Given the description of an element on the screen output the (x, y) to click on. 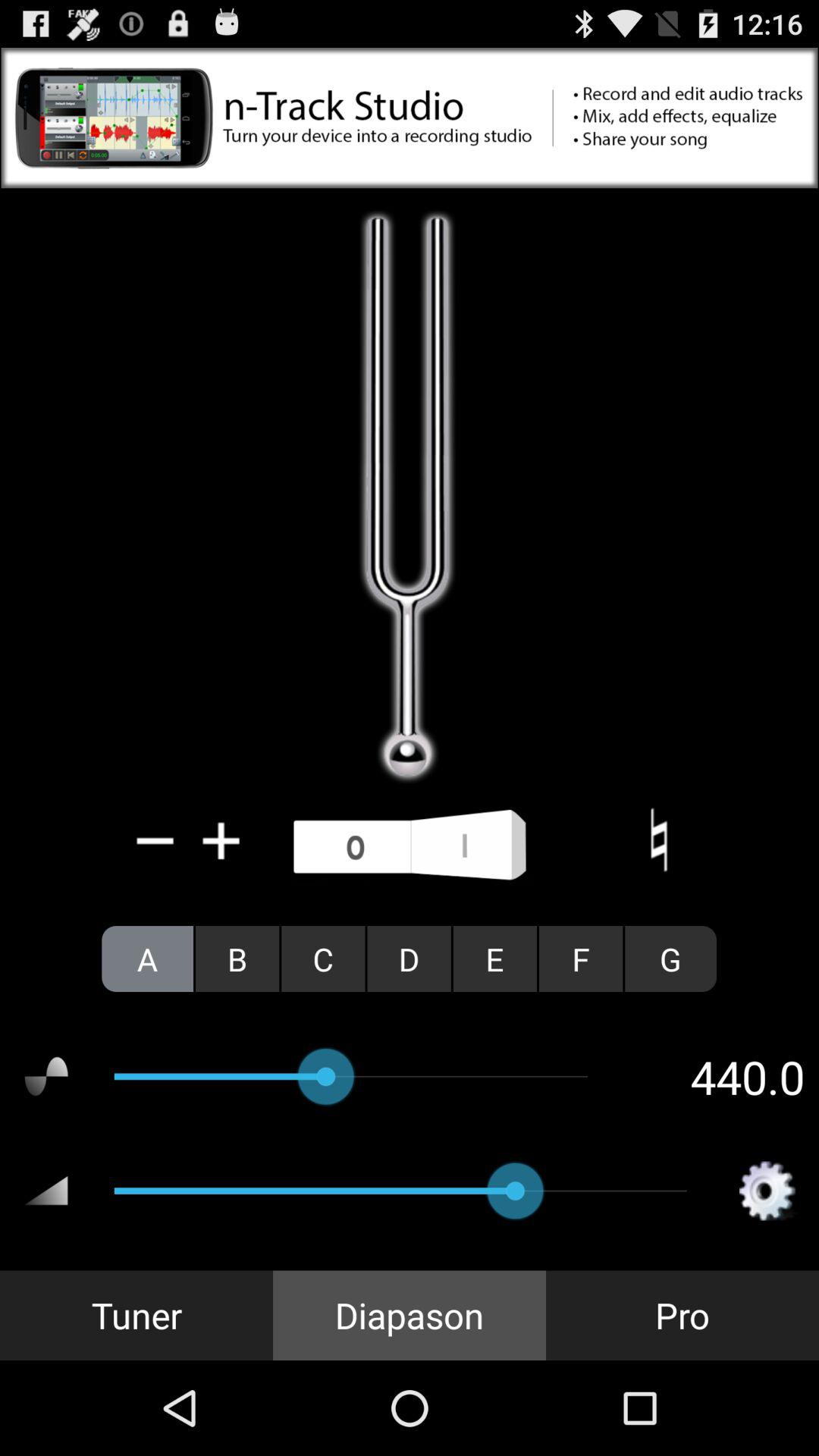
click icon next to c icon (237, 958)
